Given the description of an element on the screen output the (x, y) to click on. 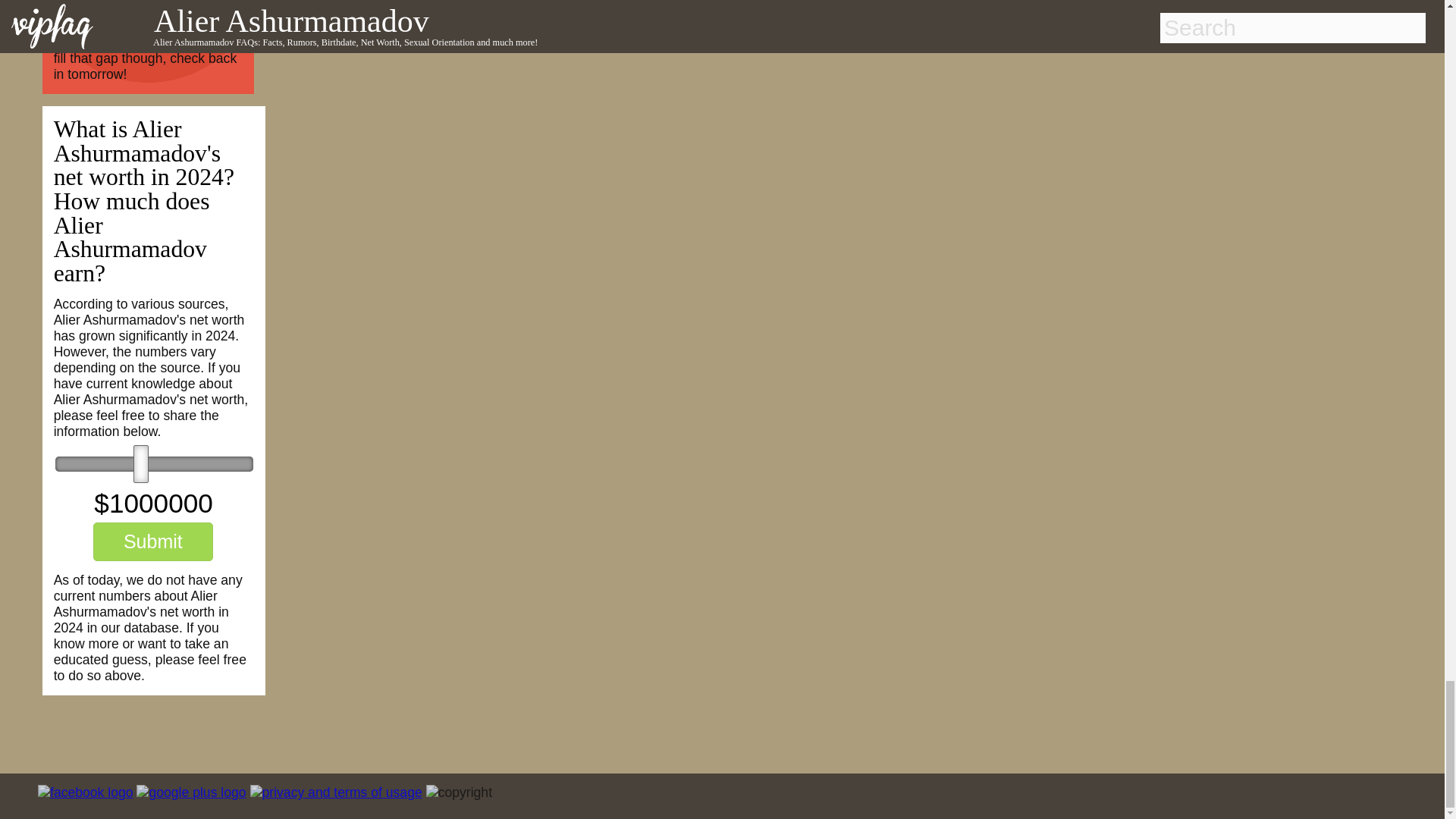
Submit (152, 541)
6 (154, 463)
